Given the description of an element on the screen output the (x, y) to click on. 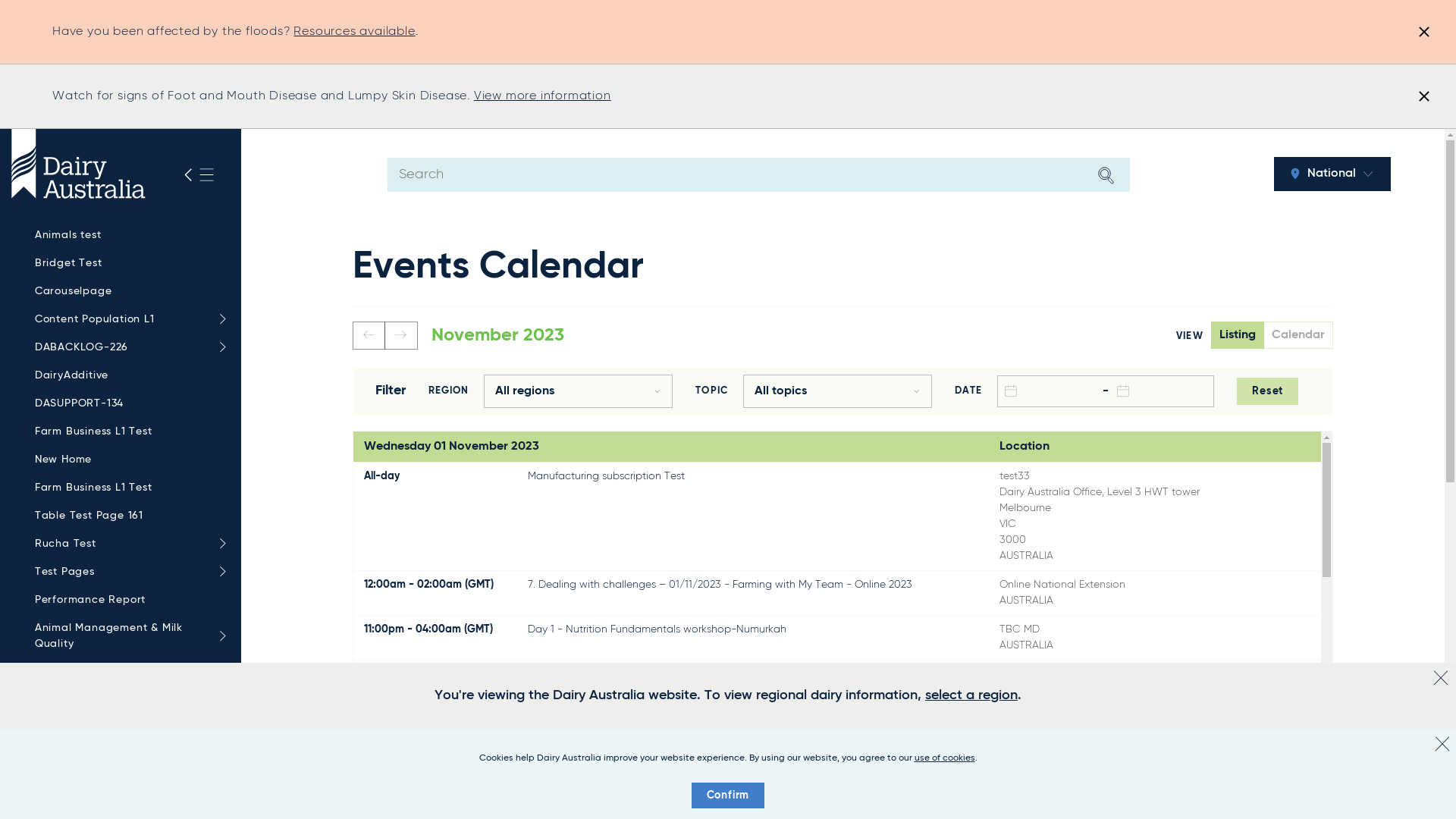
DABACKLOG-226 Element type: text (126, 347)
Performance Report Element type: text (126, 600)
Day 1 - Nutrition Fundamentals workshop-Numurkah Element type: text (656, 629)
Bridget Test Element type: text (126, 263)
National Element type: text (1332, 173)
Test Pages Element type: text (126, 572)
Rucha Test Element type: text (126, 544)
Resources available Element type: text (353, 31)
Reset Element type: text (1267, 390)
Confirm Element type: text (728, 795)
DairyAdditive Element type: text (126, 375)
X Element type: text (1441, 743)
Listing Element type: text (1237, 334)
Animal Management & Milk Quality Element type: text (126, 636)
Animals test Element type: text (126, 235)
New Home Element type: text (126, 459)
International Dairy Markets Element type: text (126, 784)
Table Test Page 161 Element type: text (126, 516)
Calendar Element type: text (1298, 334)
Day 2 - Nutrition Fundamentals workshop-Numurkah Element type: text (657, 782)
Land, Water & Climate Element type: text (126, 700)
Farm Business L1 Test Element type: text (126, 431)
Carouselpage Element type: text (126, 291)
X Element type: text (1423, 96)
Farm Business Element type: text (126, 728)
X Element type: text (1423, 31)
X Element type: text (1440, 677)
Manufacturing subscription Test Element type: text (605, 475)
use of cookies Element type: text (944, 757)
DASUPPORT-134 Element type: text (126, 403)
Content Population L1 Element type: text (126, 319)
People, Skills & Capability Element type: text (126, 756)
View more information Element type: text (542, 96)
Feed & Nutrition Element type: text (126, 672)
HR Update with Chas Cini (South East) Element type: text (622, 673)
Farm Business L1 Test Element type: text (126, 487)
select a region Element type: text (971, 695)
